Given the description of an element on the screen output the (x, y) to click on. 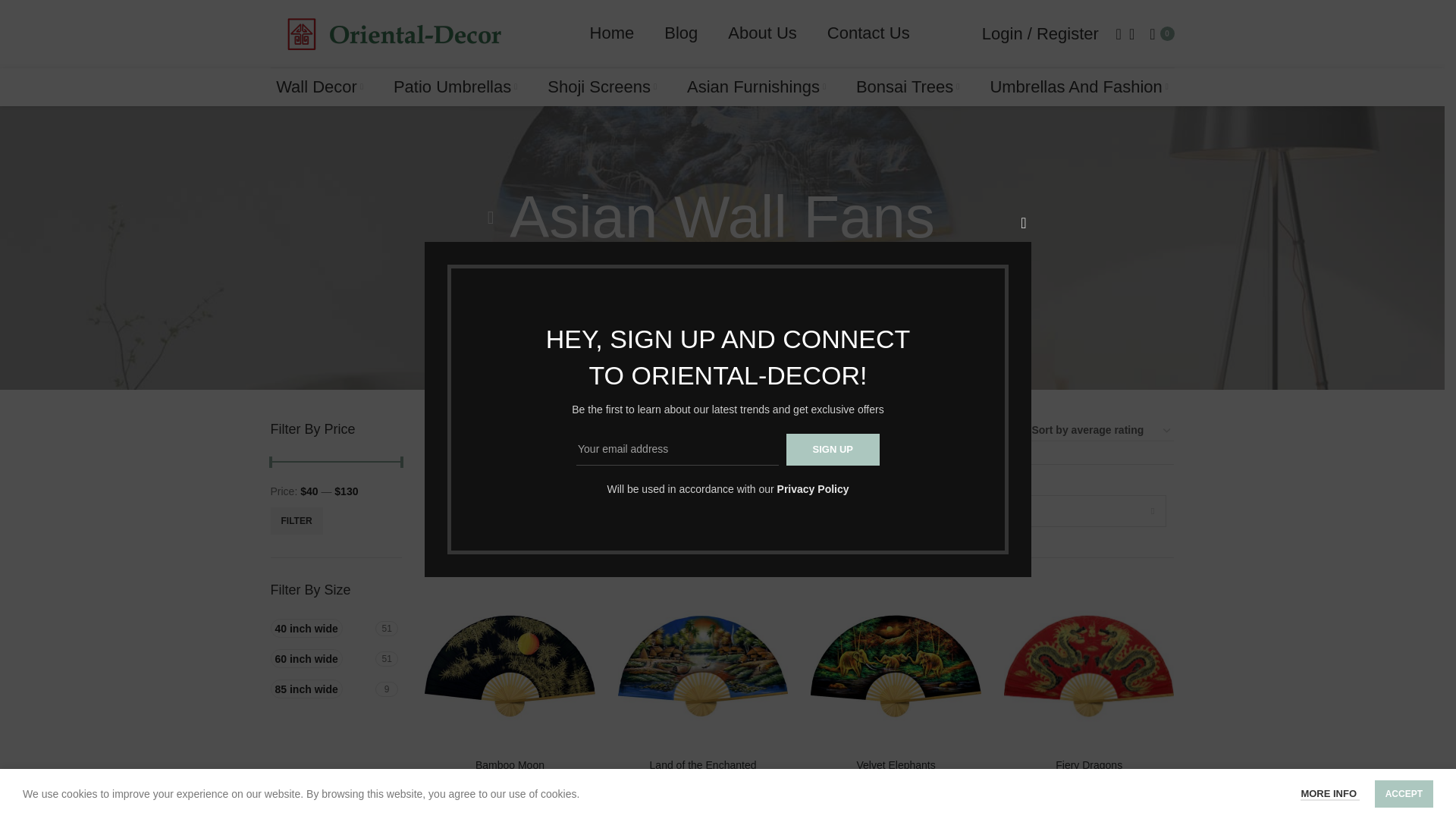
Wall Decor (335, 660)
Umbrellas And Fashion (319, 87)
Home (1078, 87)
60 inch wide (611, 33)
Contact Us (335, 660)
Sign up (320, 658)
Sign up (868, 33)
Blog (832, 450)
My account (832, 450)
Bonsai Trees (872, 287)
Home (680, 33)
Privacy Policy (1040, 33)
